Given the description of an element on the screen output the (x, y) to click on. 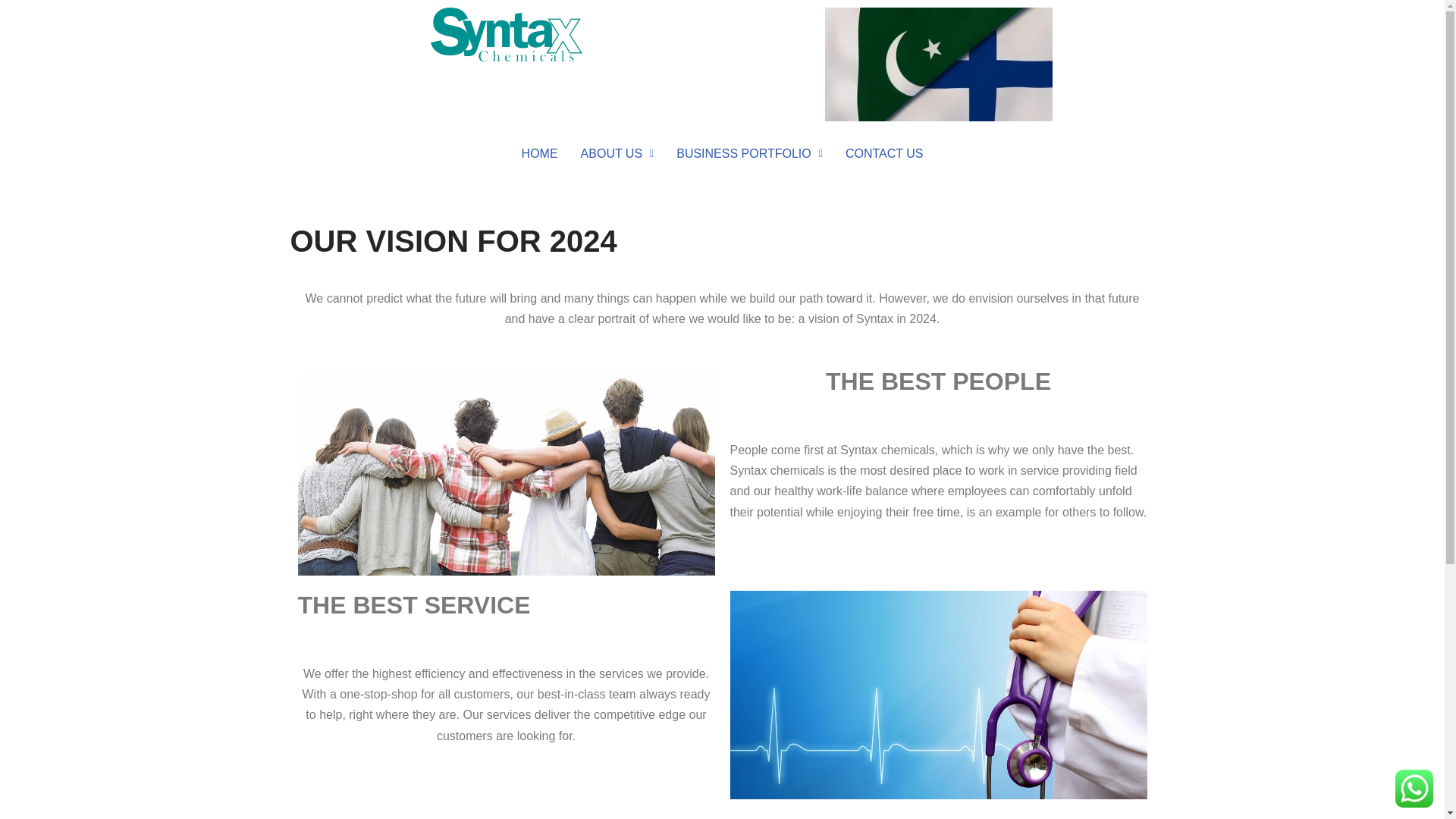
HOME (540, 153)
Skip to content (11, 31)
CONTACT US (884, 153)
two-states-flags-pakistan-finland-260nw-1811671225 (938, 64)
BUSINESS PORTFOLIO (749, 153)
ABOUT US (617, 153)
